Given the description of an element on the screen output the (x, y) to click on. 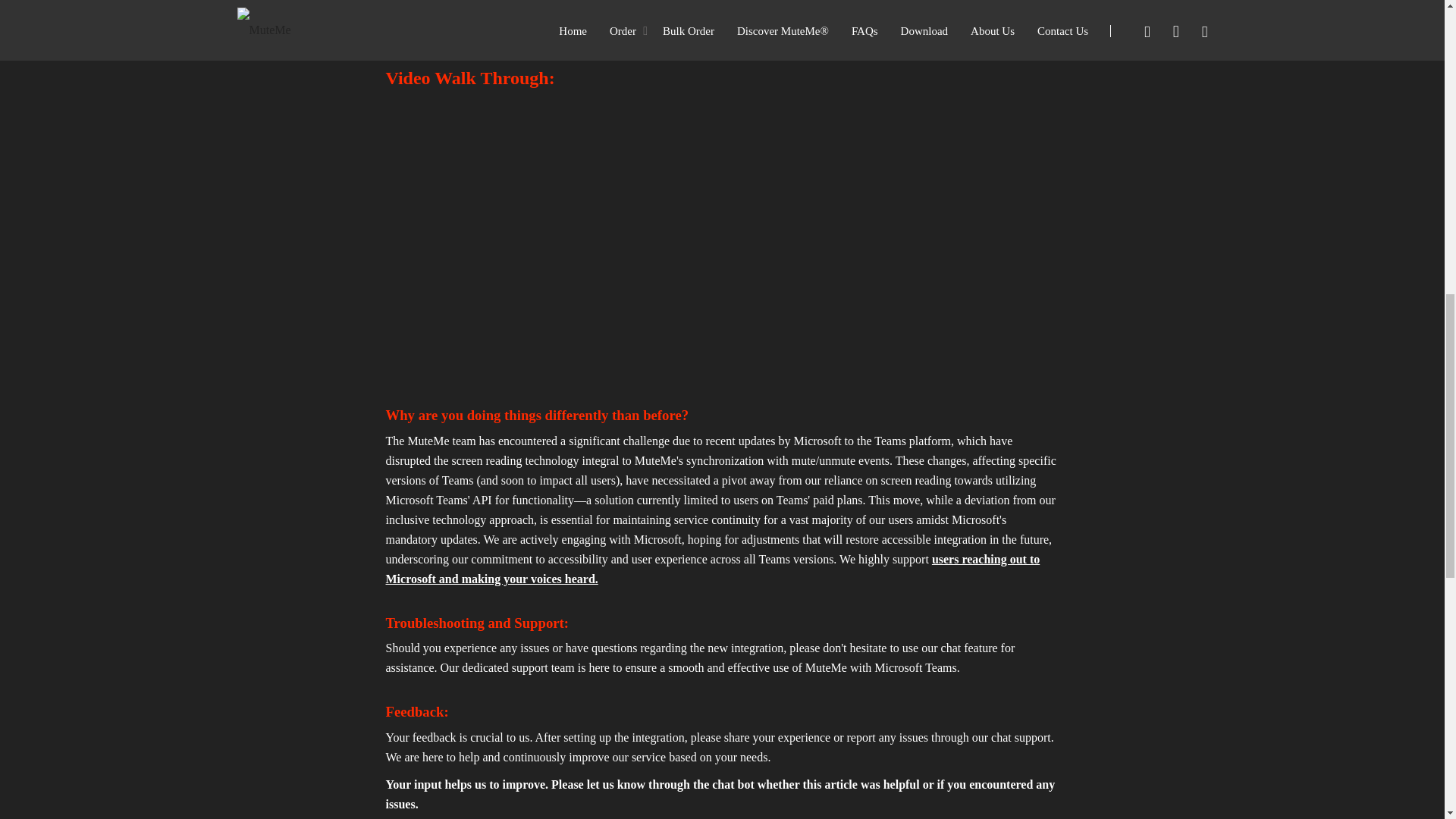
YouTube video player (597, 232)
